Given the description of an element on the screen output the (x, y) to click on. 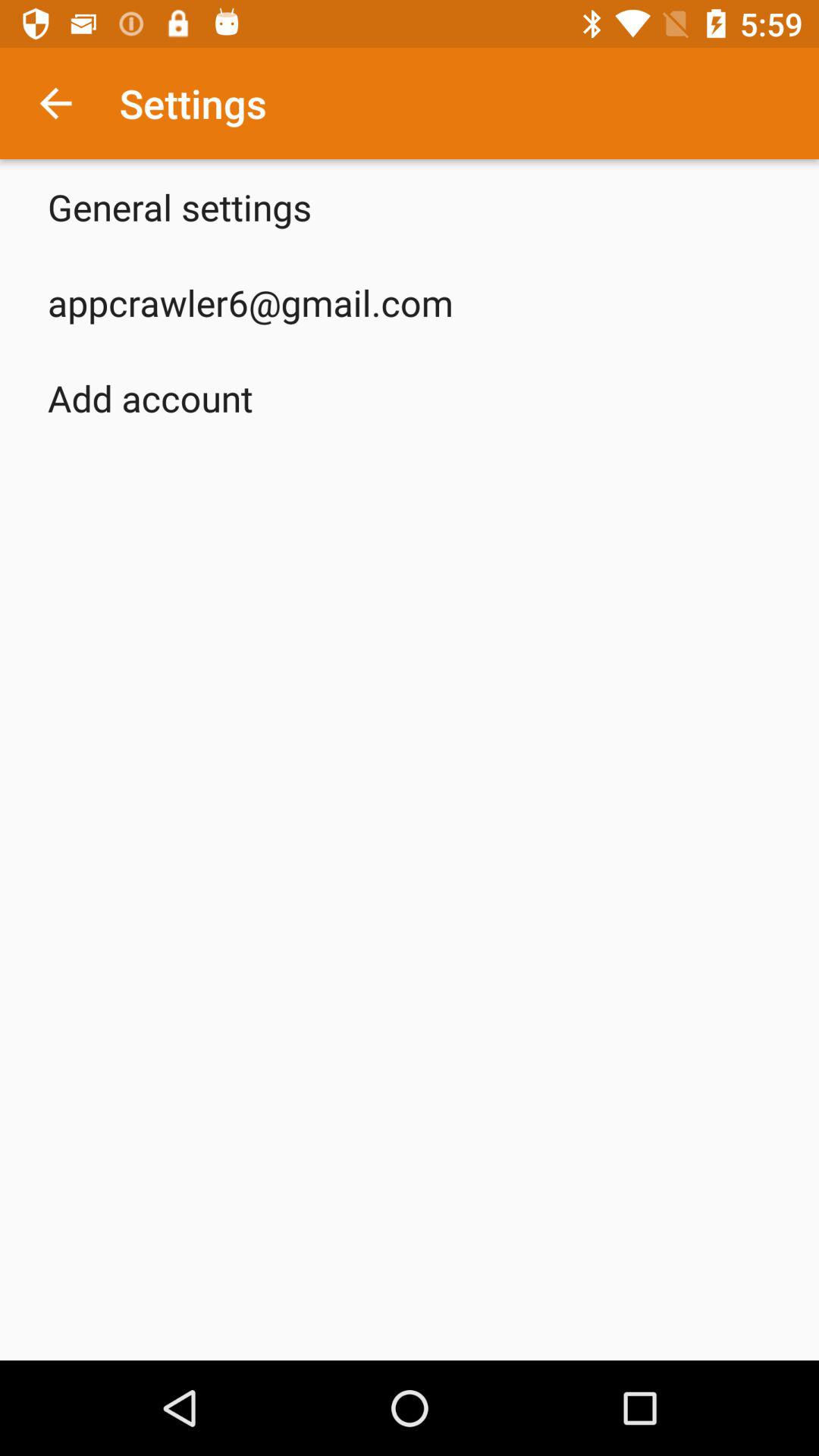
press add account (150, 397)
